Given the description of an element on the screen output the (x, y) to click on. 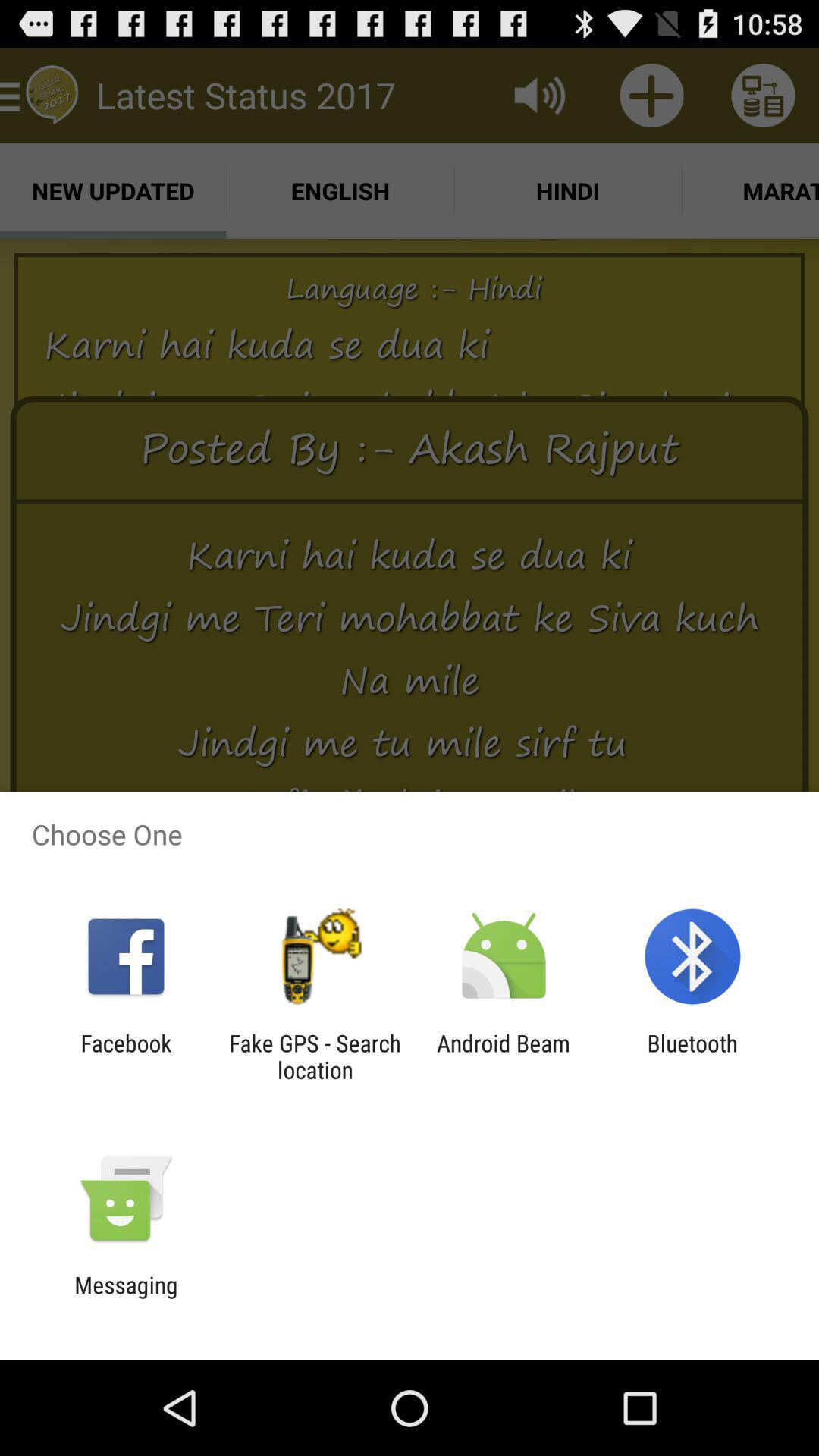
swipe until messaging item (126, 1298)
